Given the description of an element on the screen output the (x, y) to click on. 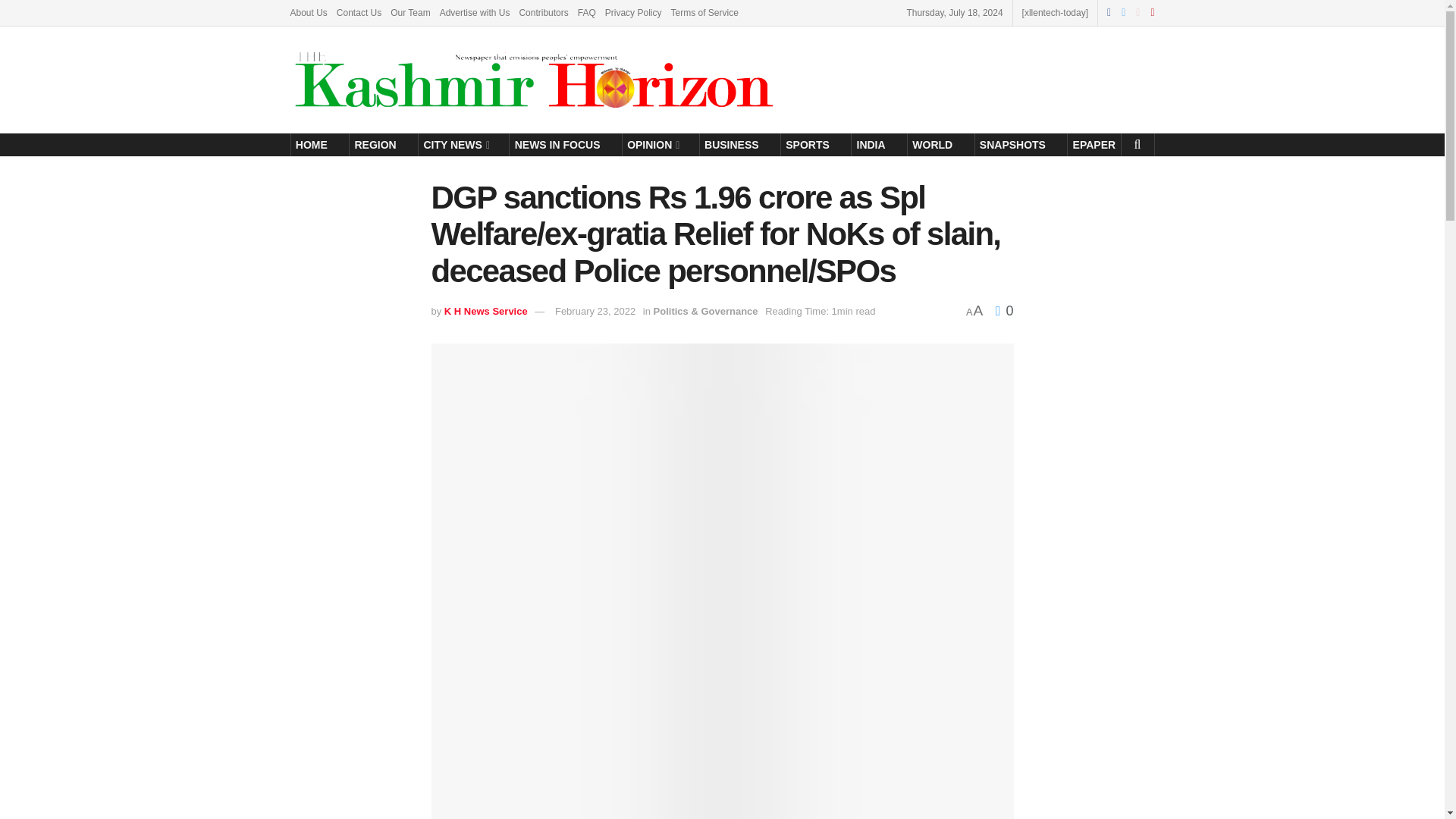
Terms of Service (703, 12)
Advertise with Us (475, 12)
Contributors (542, 12)
NEWS IN FOCUS (556, 144)
FAQ (586, 12)
Contact Us (358, 12)
BUSINESS (731, 144)
HOME (312, 144)
EPAPER (1093, 144)
About Us (307, 12)
WORLD (932, 144)
Privacy Policy (633, 12)
CITY NEWS (455, 144)
SNAPSHOTS (1013, 144)
Our Team (409, 12)
